Given the description of an element on the screen output the (x, y) to click on. 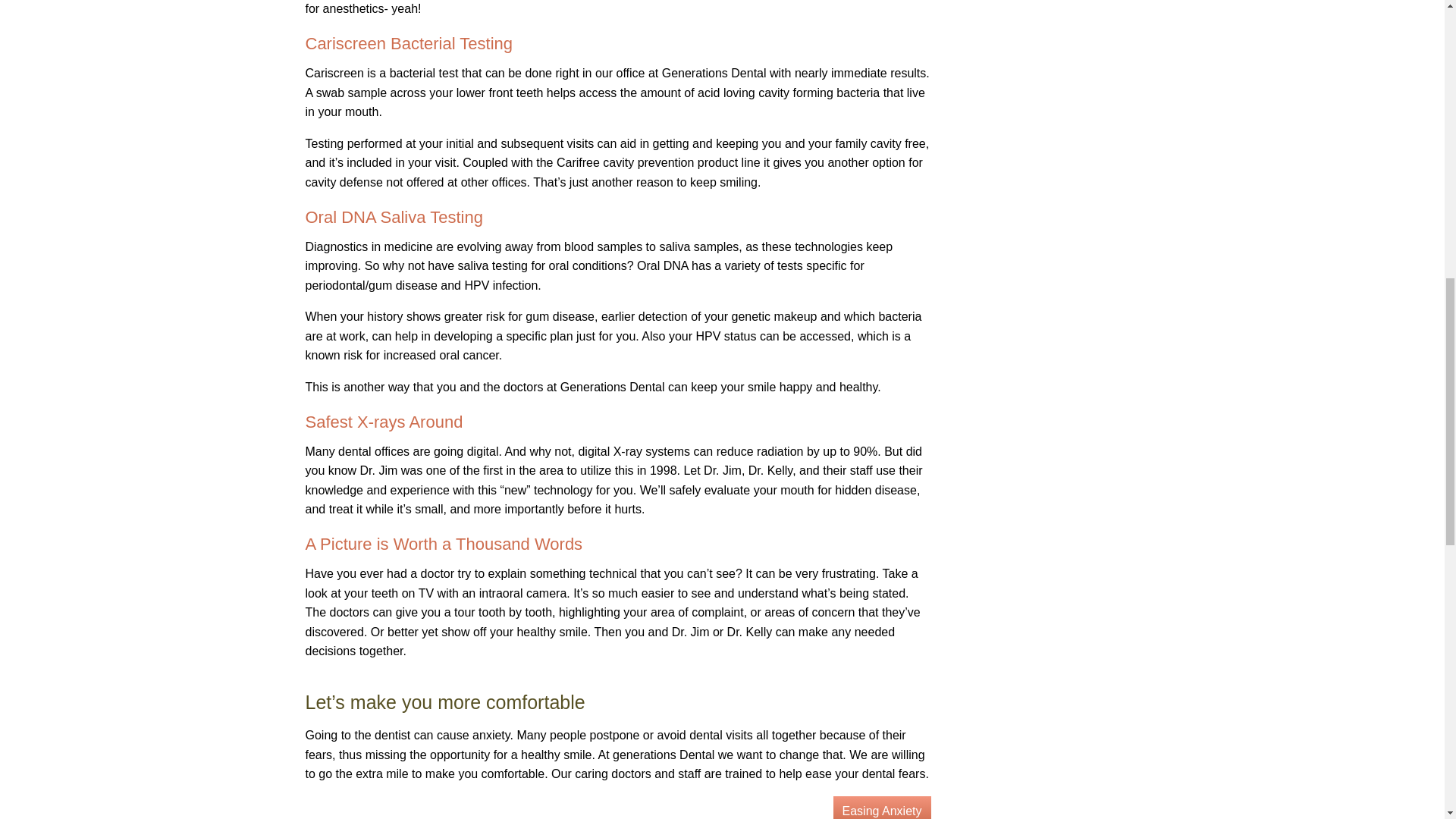
Easing Anxiety (881, 807)
